Given the description of an element on the screen output the (x, y) to click on. 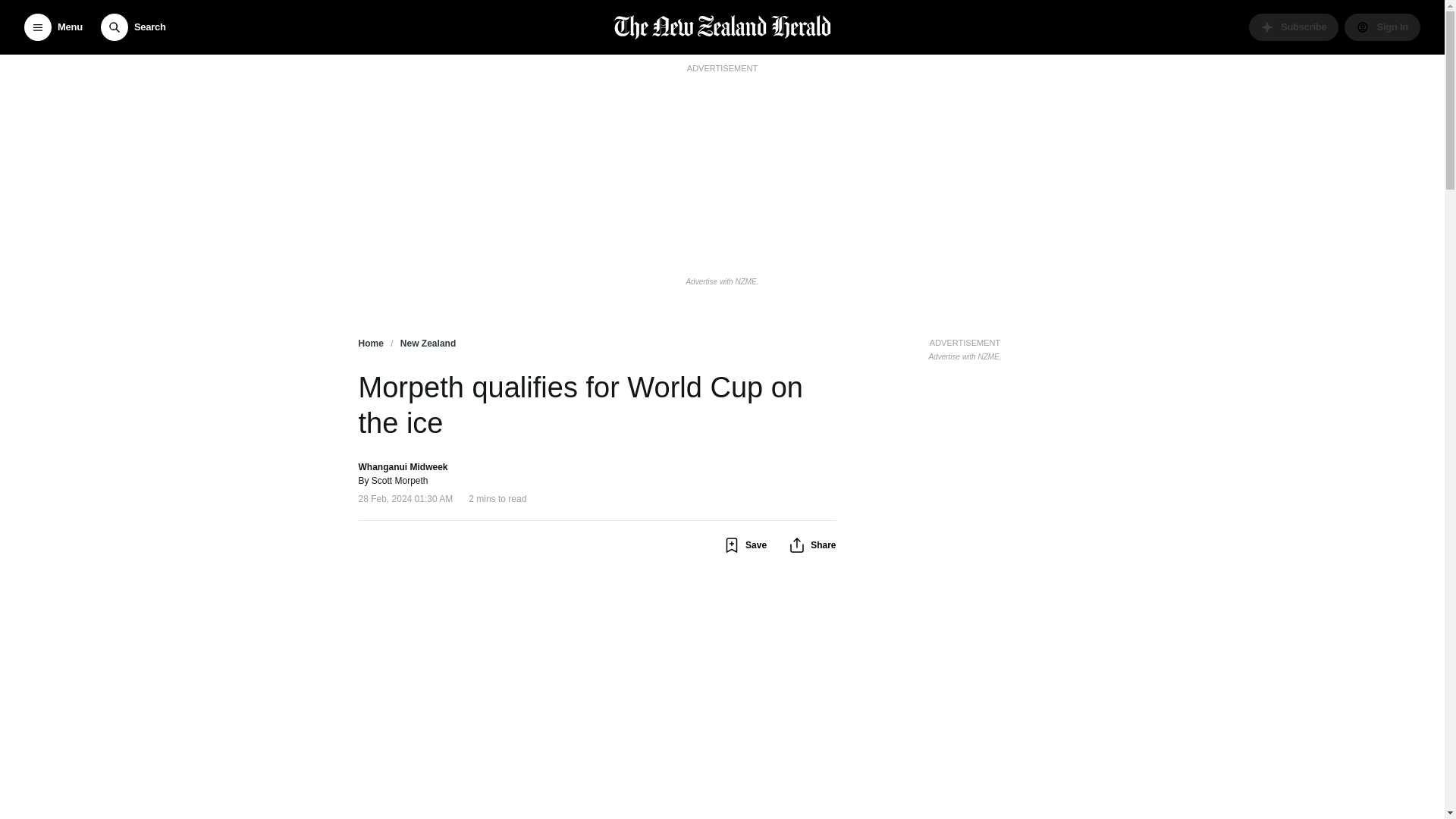
Menu (53, 26)
Subscribe (1294, 26)
Sign In (1382, 26)
Search (132, 26)
Manage your account (1382, 26)
